Given the description of an element on the screen output the (x, y) to click on. 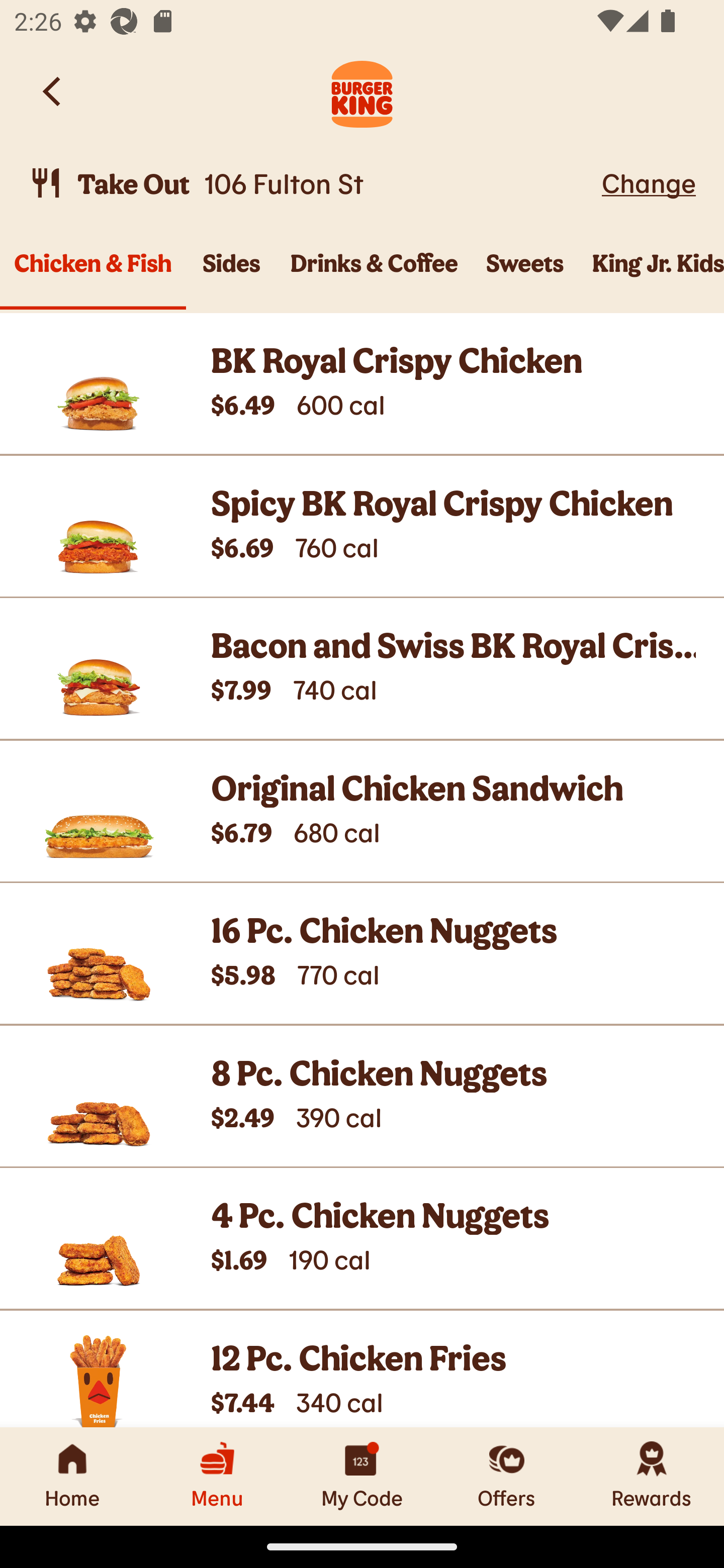
Burger King Logo. Navigate to Home (362, 91)
Back (52, 91)
Take Out, 106 Fulton St  Take Out 106 Fulton St (311, 183)
Change (648, 182)
Chicken & Fish (93, 273)
Sides (231, 273)
Drinks & Coffee (374, 273)
Sweets (525, 273)
King Jr. Kids Meals (651, 273)
Home (72, 1475)
Menu (216, 1475)
My Code (361, 1475)
Offers (506, 1475)
Rewards (651, 1475)
